Given the description of an element on the screen output the (x, y) to click on. 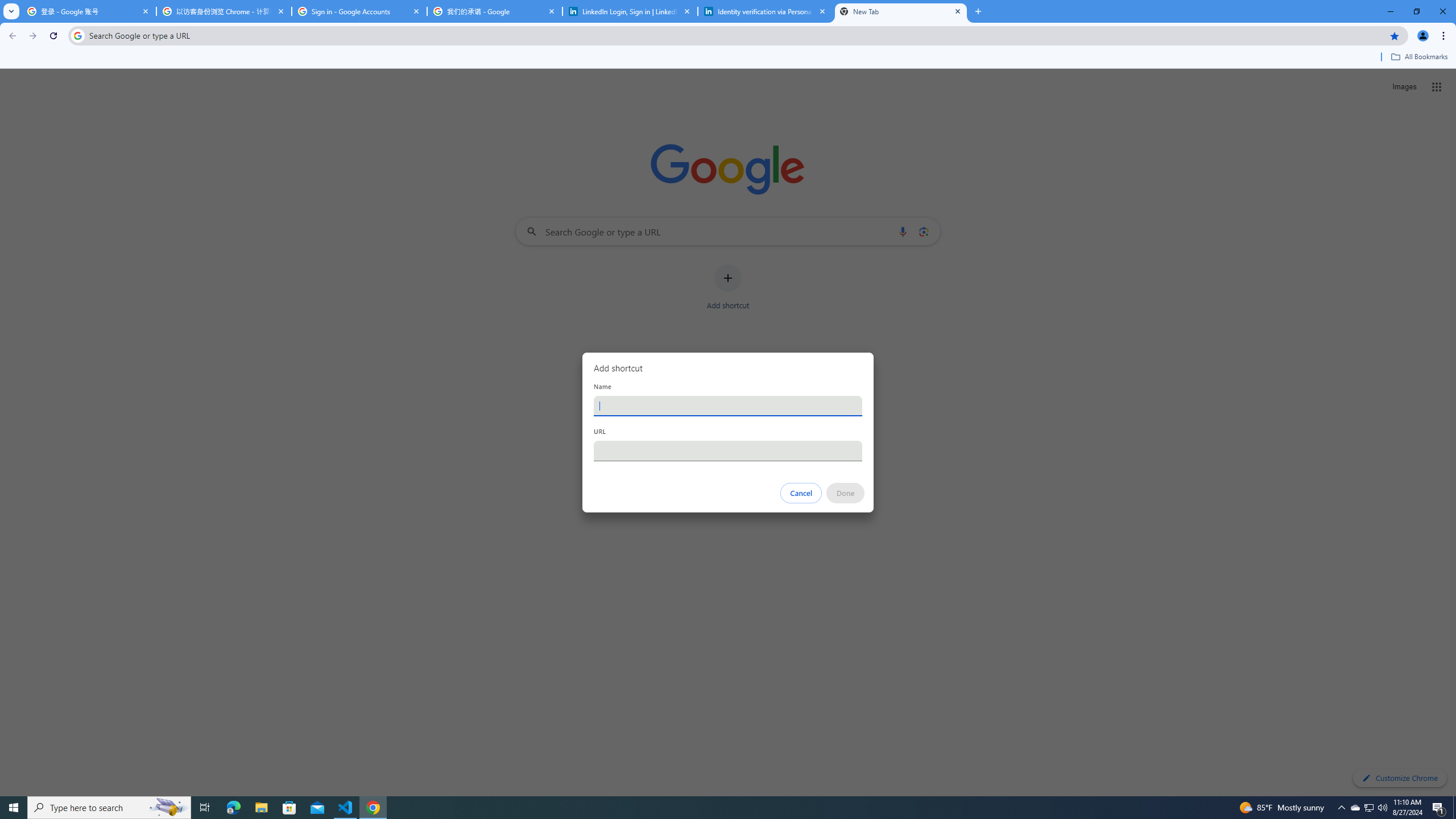
URL (727, 450)
Cancel (801, 493)
LinkedIn Login, Sign in | LinkedIn (630, 11)
